Given the description of an element on the screen output the (x, y) to click on. 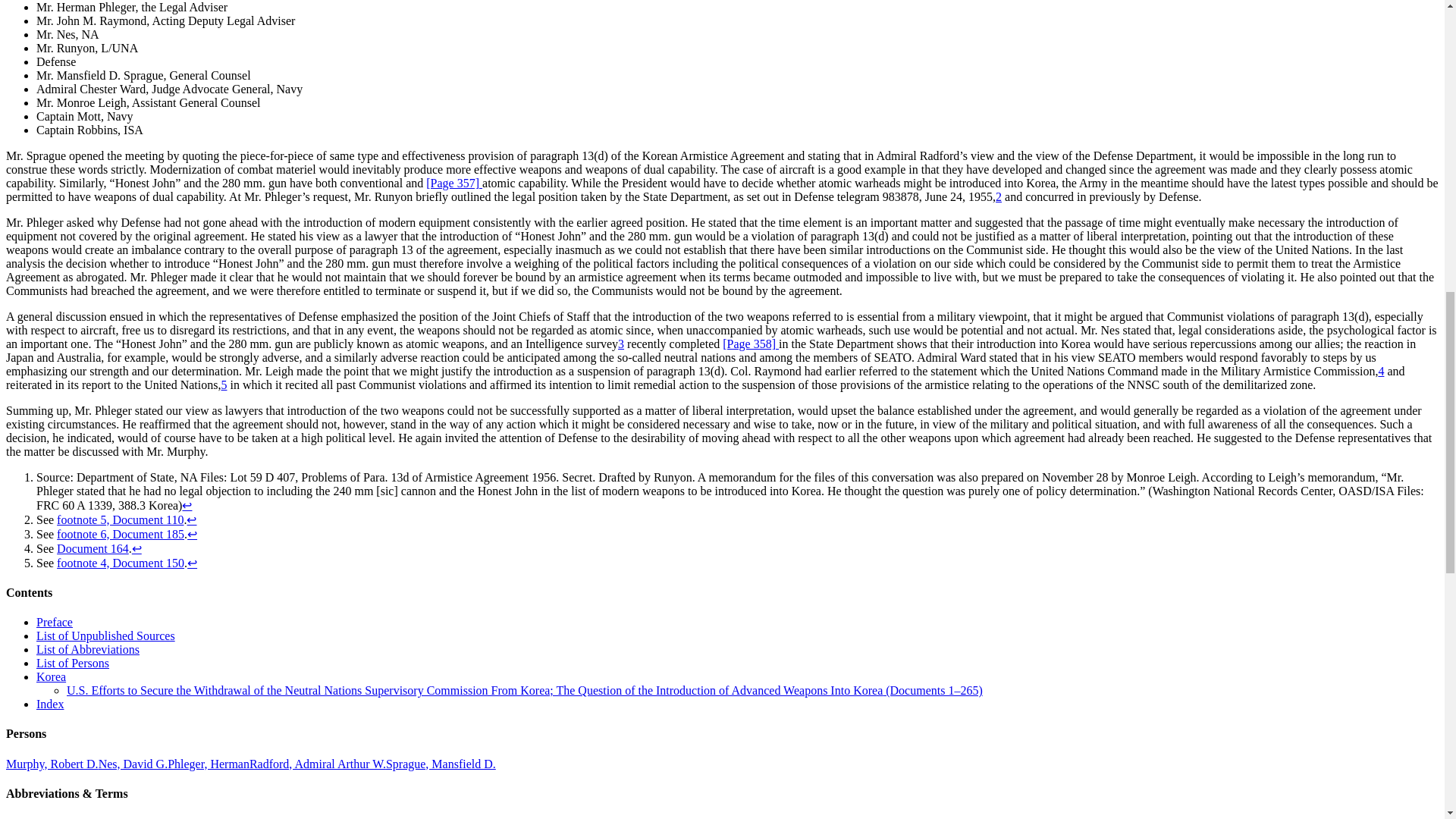
Neutral Nations Supervisory Commission (77, 817)
USN, Chairman of the Joint Chiefs of Staff until August 1957 (316, 763)
Deputy Under Secretary of State for Political Affairs (52, 763)
Southeast Asia Treaty Organization (167, 817)
Legal Adviser of the Department of State until April 1957 (207, 763)
